Given the description of an element on the screen output the (x, y) to click on. 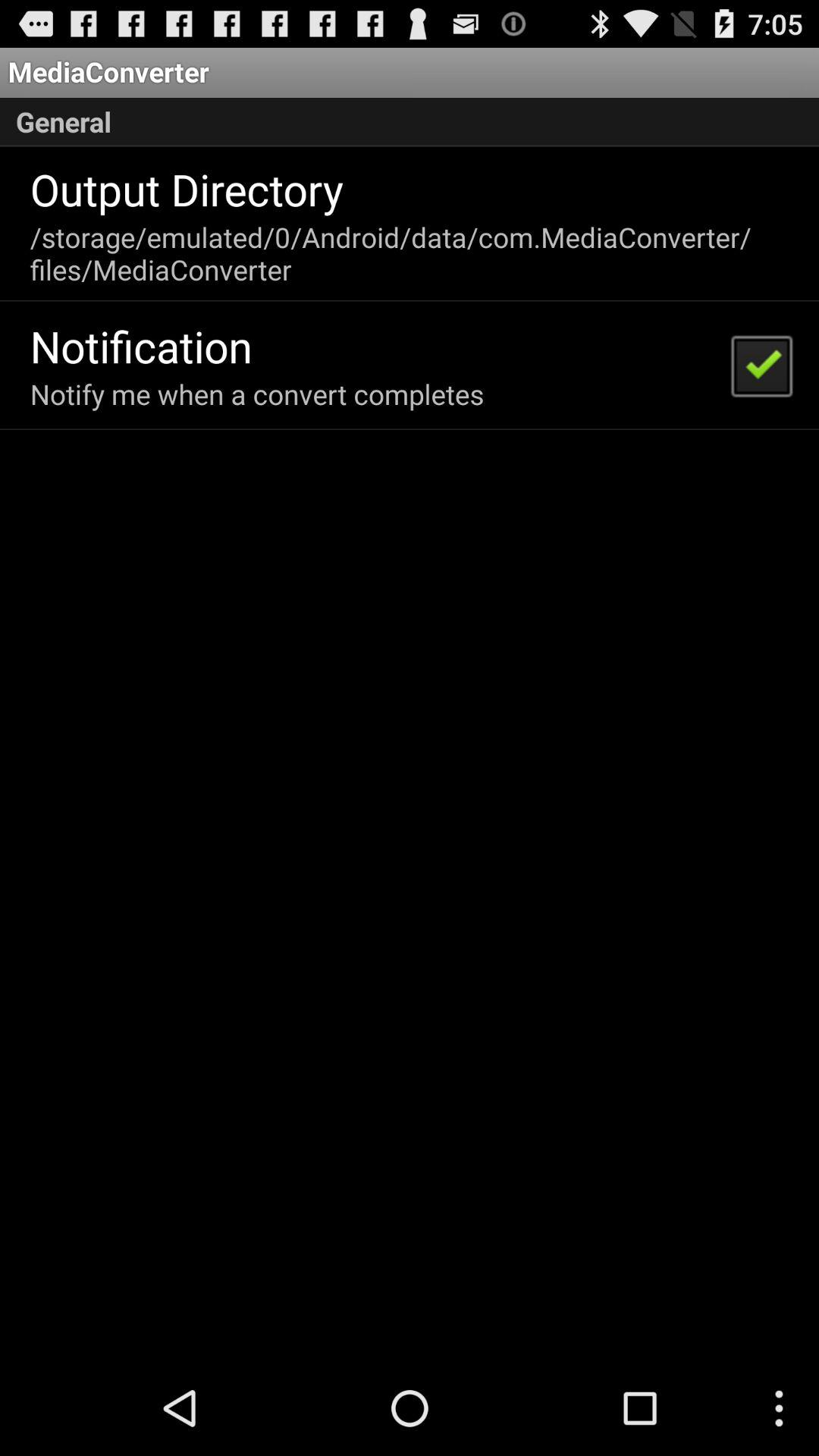
select icon above the storage emulated 0 icon (186, 188)
